Given the description of an element on the screen output the (x, y) to click on. 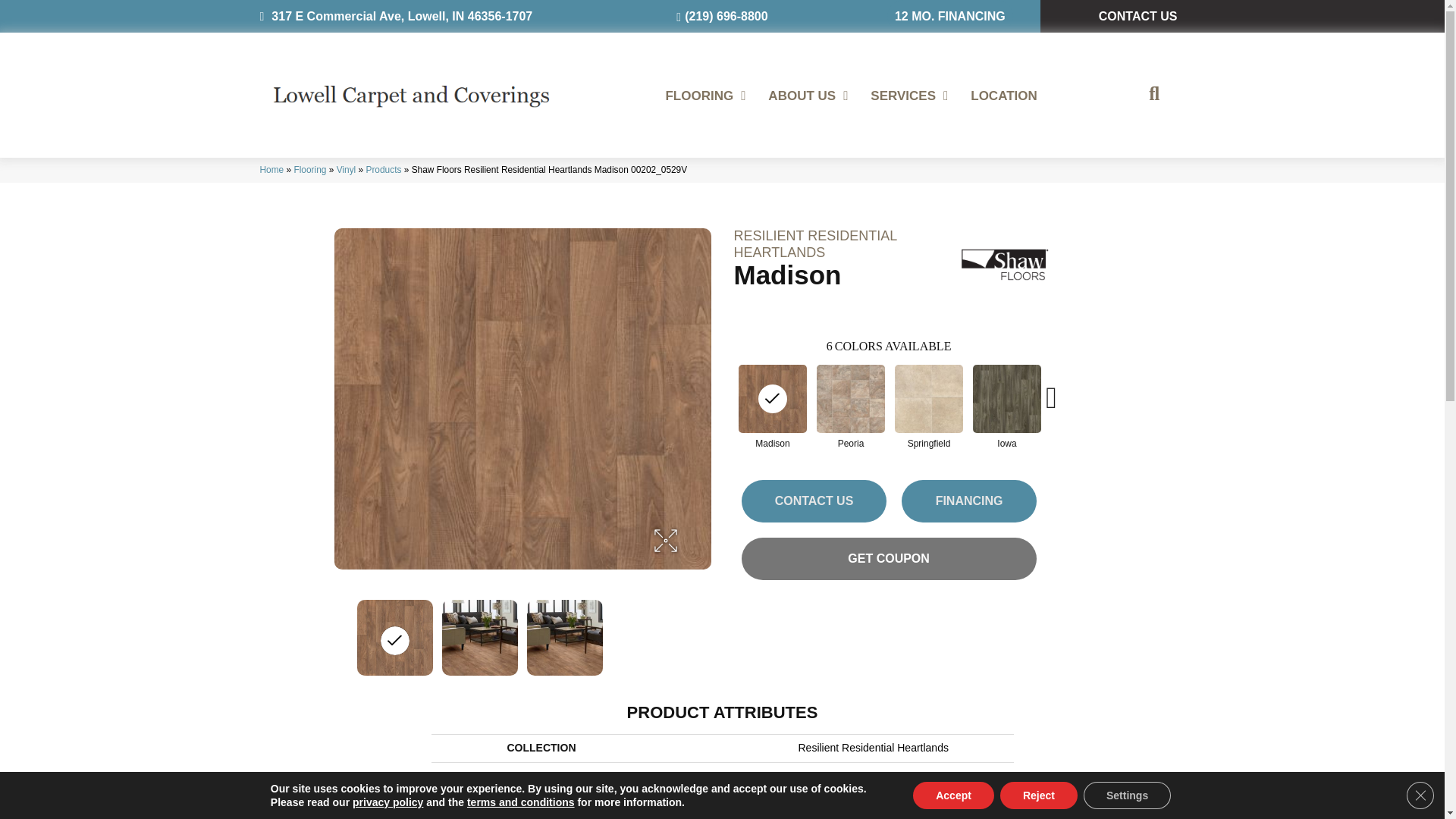
12 MO. FINANCING (949, 16)
CONTACT US (1137, 16)
317 E Commercial Ave, Lowell, IN 46356-1707 (395, 15)
FLOORING (705, 95)
